Given the description of an element on the screen output the (x, y) to click on. 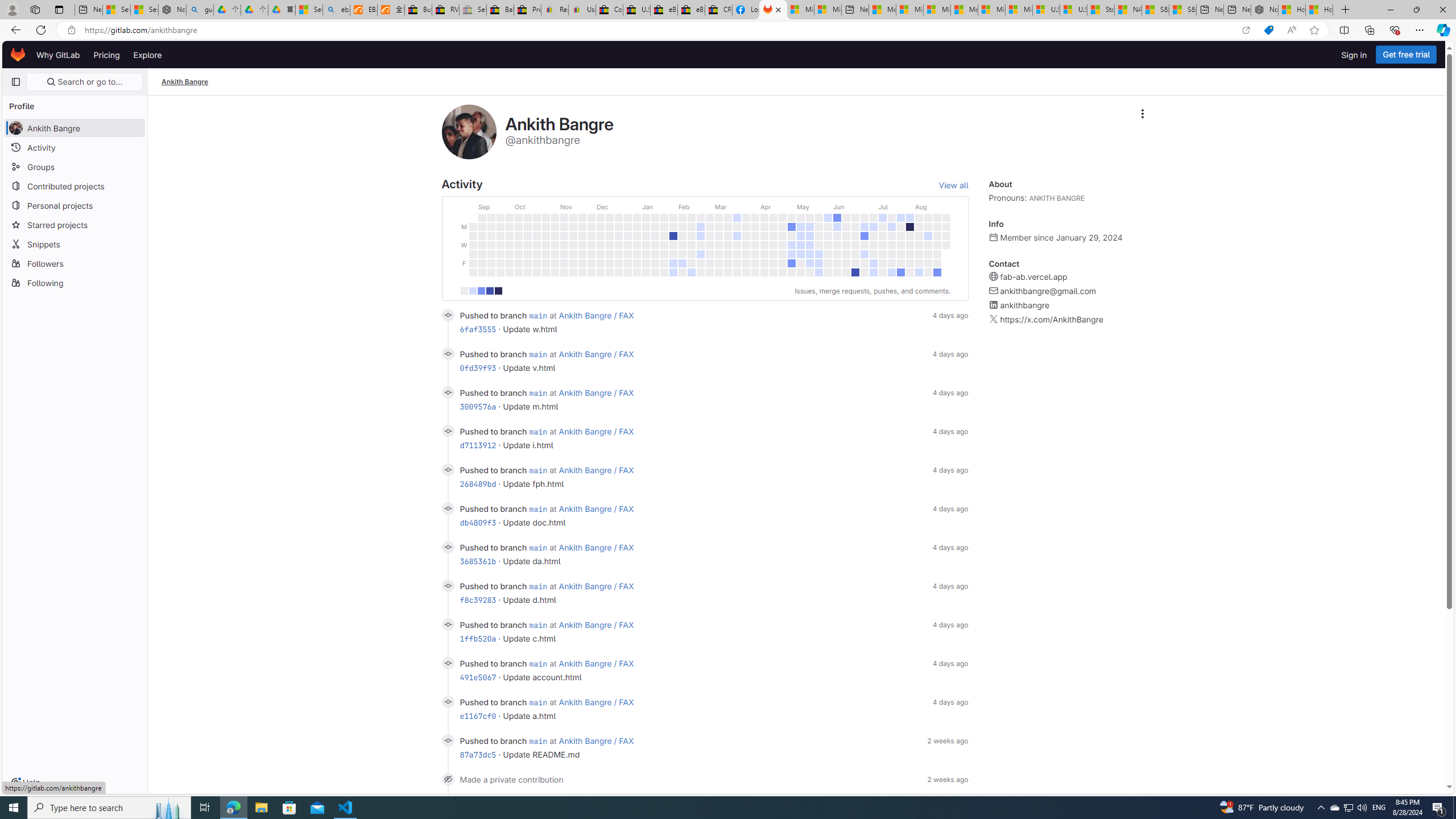
Sign in (1353, 54)
Shopping in Microsoft Edge (1268, 29)
